Given the description of an element on the screen output the (x, y) to click on. 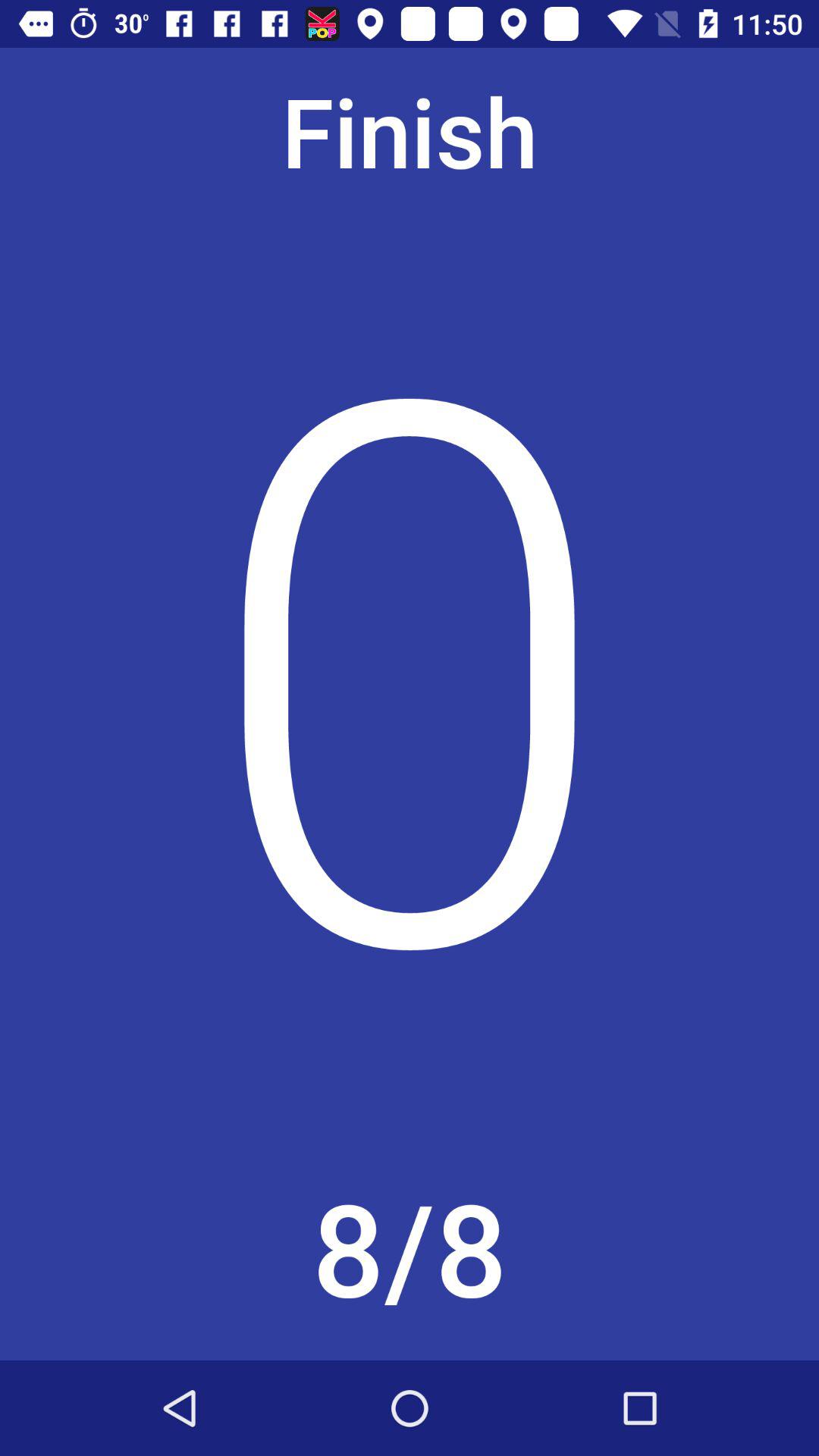
turn off the 8/8 (409, 1253)
